Given the description of an element on the screen output the (x, y) to click on. 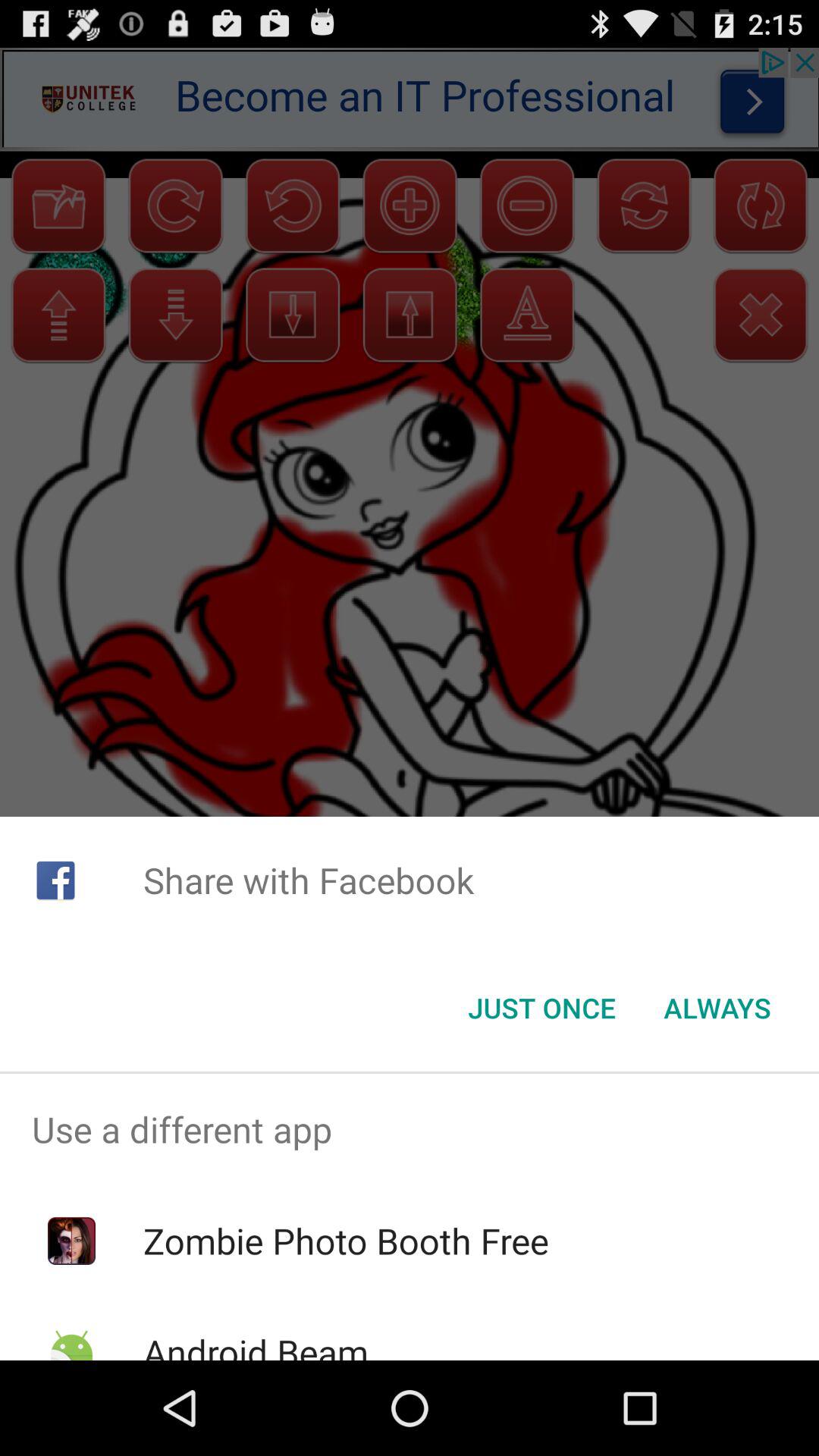
choose item next to the just once button (717, 1007)
